Given the description of an element on the screen output the (x, y) to click on. 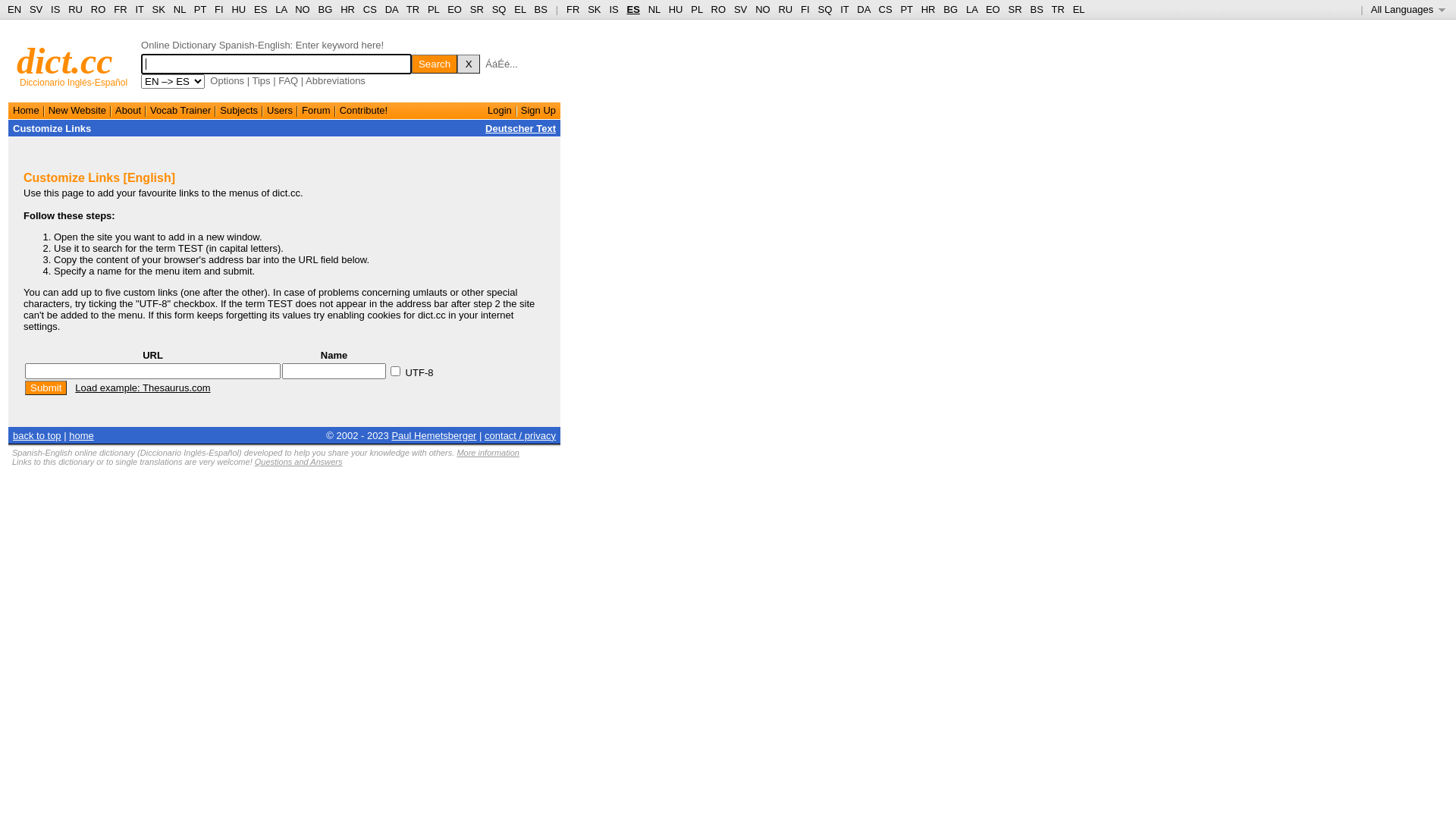
RU Element type: text (785, 9)
PT Element type: text (906, 9)
Abbreviations Element type: text (335, 80)
PL Element type: text (696, 9)
TR Element type: text (412, 9)
contact / privacy Element type: text (519, 434)
SQ Element type: text (499, 9)
Forum Element type: text (315, 110)
LA Element type: text (280, 9)
EO Element type: text (454, 9)
Sign Up Element type: text (537, 110)
DA Element type: text (391, 9)
FR Element type: text (119, 9)
Contribute! Element type: text (363, 110)
HU Element type: text (238, 9)
Vocab Trainer Element type: text (180, 110)
EO Element type: text (992, 9)
ES Element type: text (633, 9)
Tips Element type: text (260, 80)
SK Element type: text (593, 9)
NL Element type: text (179, 9)
SR Element type: text (476, 9)
NO Element type: text (762, 9)
RO Element type: text (718, 9)
Search Element type: text (434, 63)
NO Element type: text (302, 9)
HU Element type: text (675, 9)
SQ Element type: text (824, 9)
SR Element type: text (1015, 9)
Users Element type: text (279, 110)
All Languages  Element type: text (1408, 9)
More information Element type: text (487, 452)
IT Element type: text (844, 9)
Subjects Element type: text (238, 110)
Submit Element type: text (45, 387)
LA Element type: text (971, 9)
Login Element type: text (499, 110)
EL Element type: text (1079, 9)
NL Element type: text (654, 9)
Questions and Answers Element type: text (298, 461)
PL Element type: text (433, 9)
HR Element type: text (928, 9)
SV Element type: text (35, 9)
dict.cc Element type: text (64, 60)
BG Element type: text (325, 9)
BG Element type: text (950, 9)
Options Element type: text (227, 80)
Paul Hemetsberger Element type: text (433, 434)
ES Element type: text (260, 9)
Deutscher Text Element type: text (520, 128)
BS Element type: text (540, 9)
IS Element type: text (613, 9)
FI Element type: text (218, 9)
DA Element type: text (862, 9)
IT Element type: text (138, 9)
SK Element type: text (158, 9)
About Element type: text (128, 110)
CS Element type: text (884, 9)
X Element type: text (468, 63)
New Website Element type: text (77, 110)
SV Element type: text (740, 9)
IS Element type: text (54, 9)
FI Element type: text (804, 9)
Home Element type: text (25, 110)
RU Element type: text (75, 9)
Load example: Thesaurus.com Element type: text (142, 387)
EN Element type: text (14, 9)
PT Element type: text (200, 9)
BS Element type: text (1035, 9)
FAQ Element type: text (288, 80)
FR Element type: text (572, 9)
TR Element type: text (1057, 9)
CS Element type: text (369, 9)
RO Element type: text (98, 9)
back to top Element type: text (36, 434)
home Element type: text (81, 434)
EL Element type: text (519, 9)
HR Element type: text (347, 9)
